Given the description of an element on the screen output the (x, y) to click on. 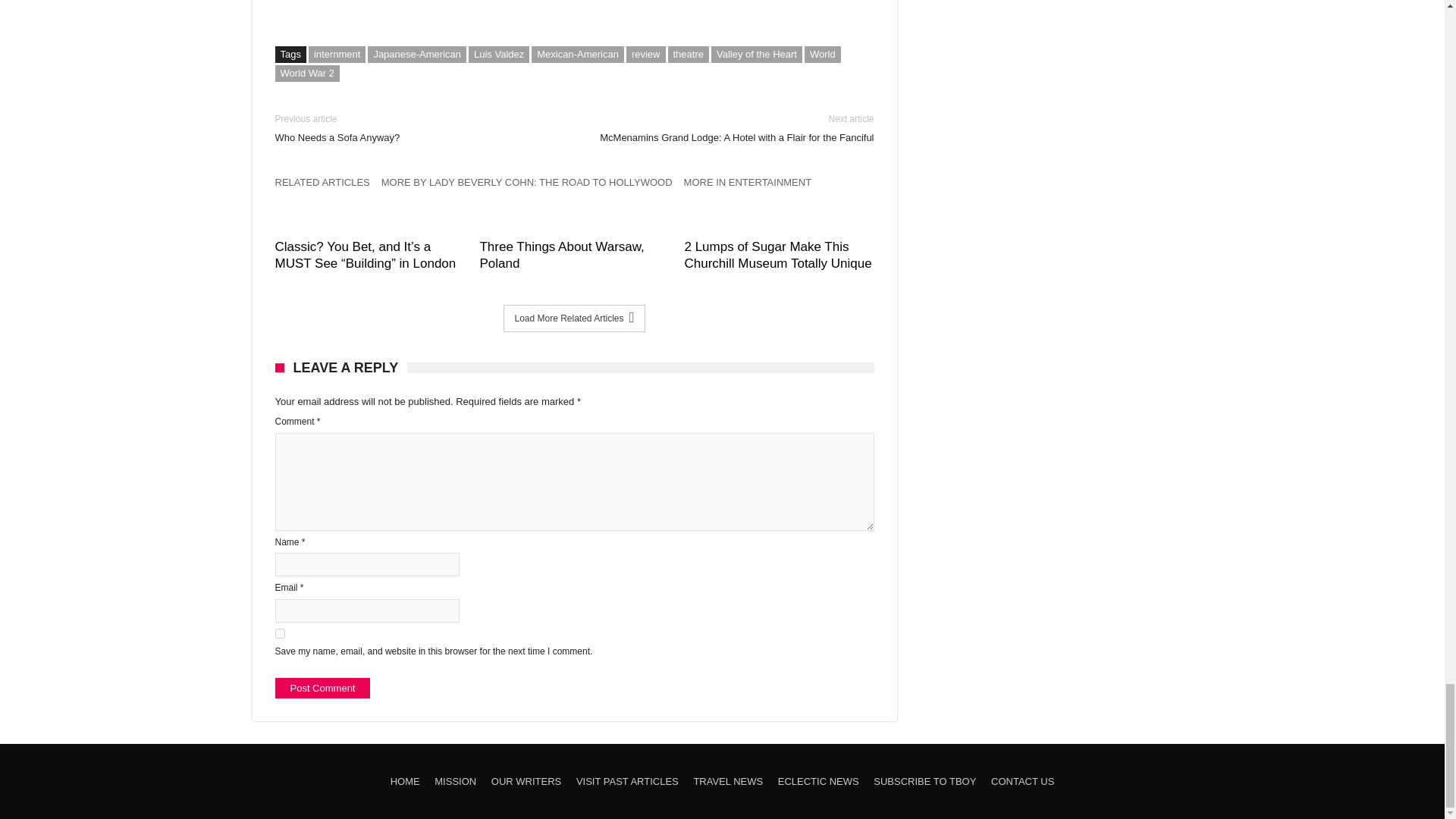
yes (279, 633)
Post Comment (322, 688)
